Given the description of an element on the screen output the (x, y) to click on. 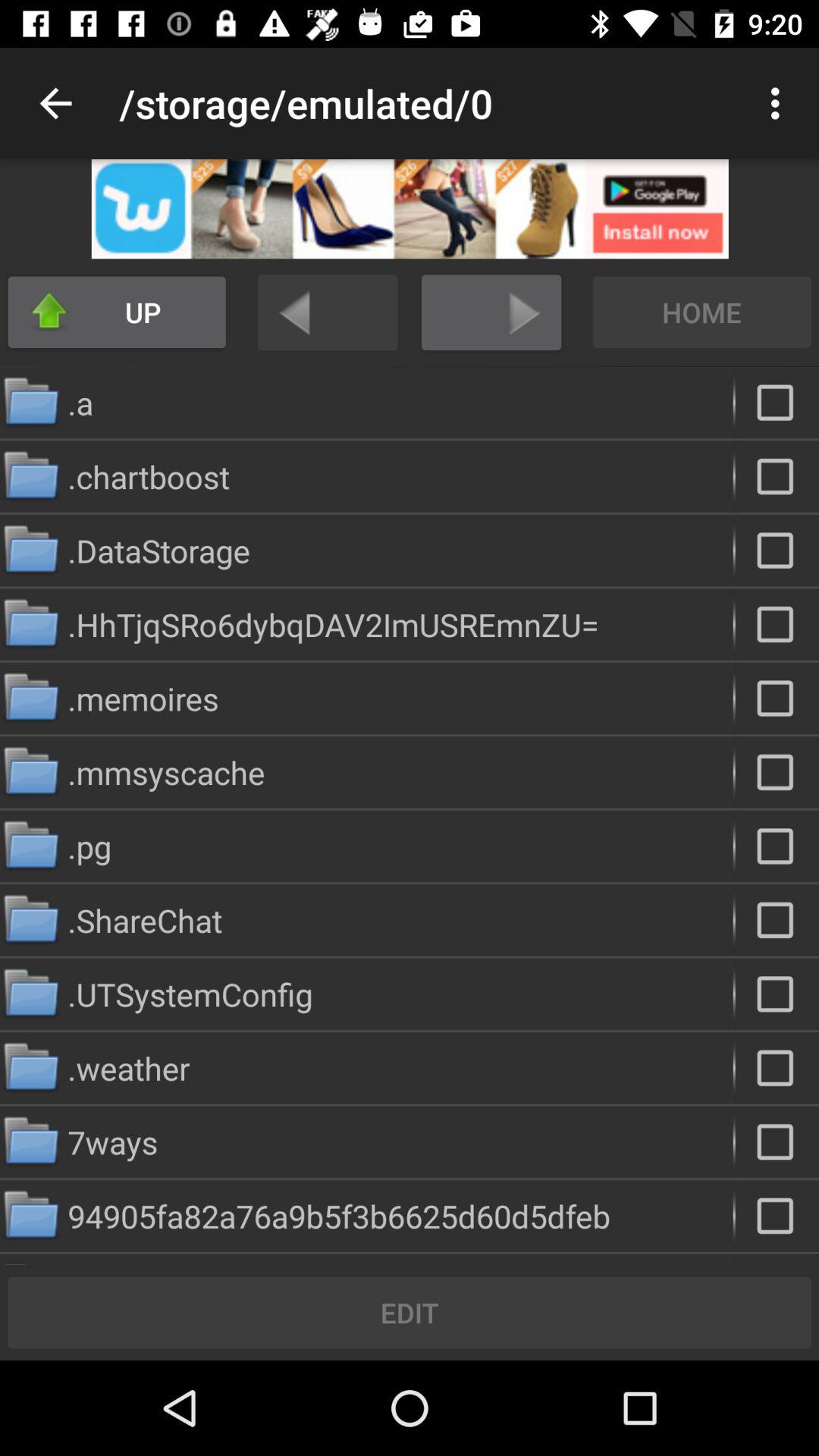
button select (777, 1215)
